Given the description of an element on the screen output the (x, y) to click on. 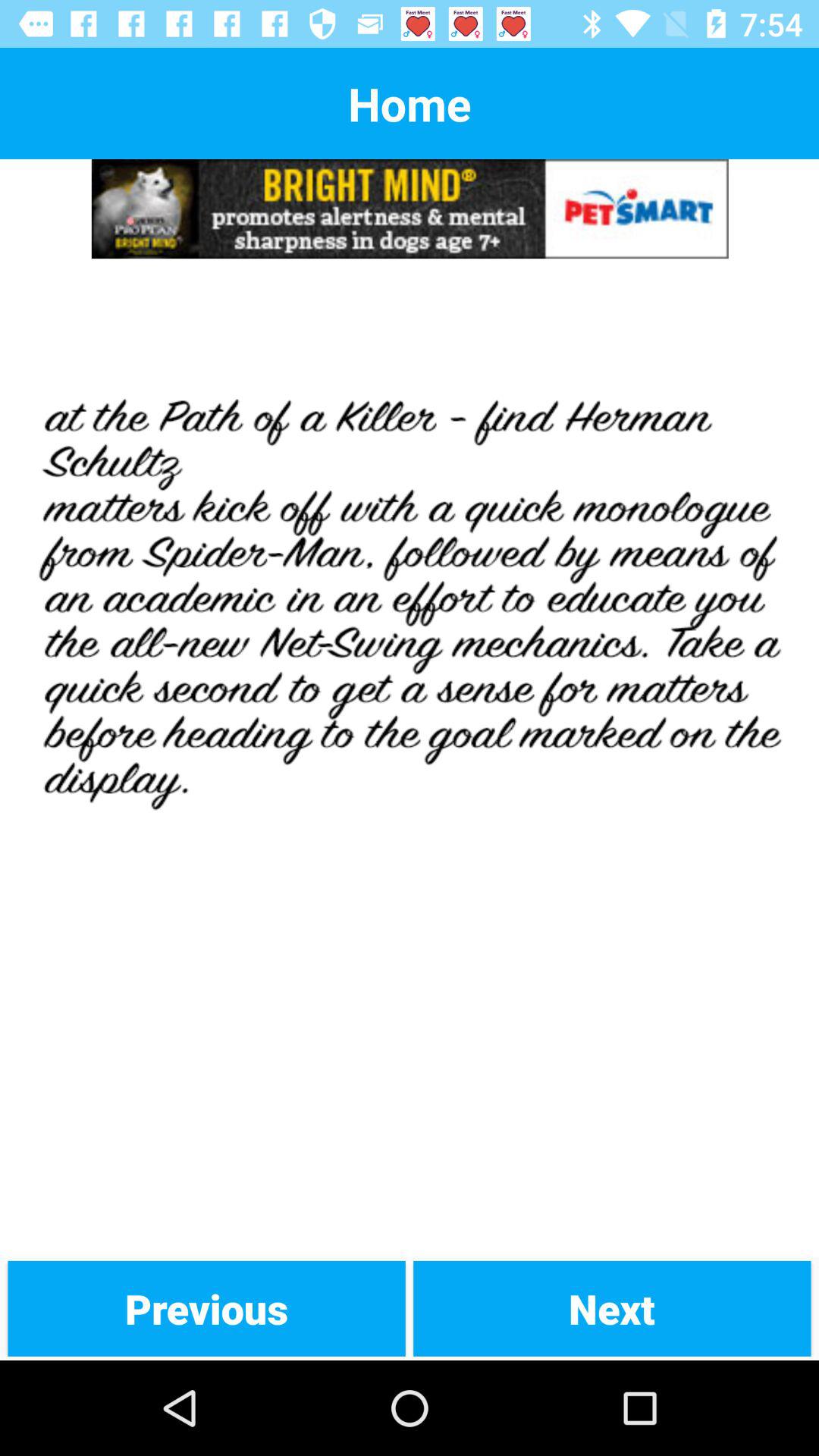
select the page (409, 757)
